Given the description of an element on the screen output the (x, y) to click on. 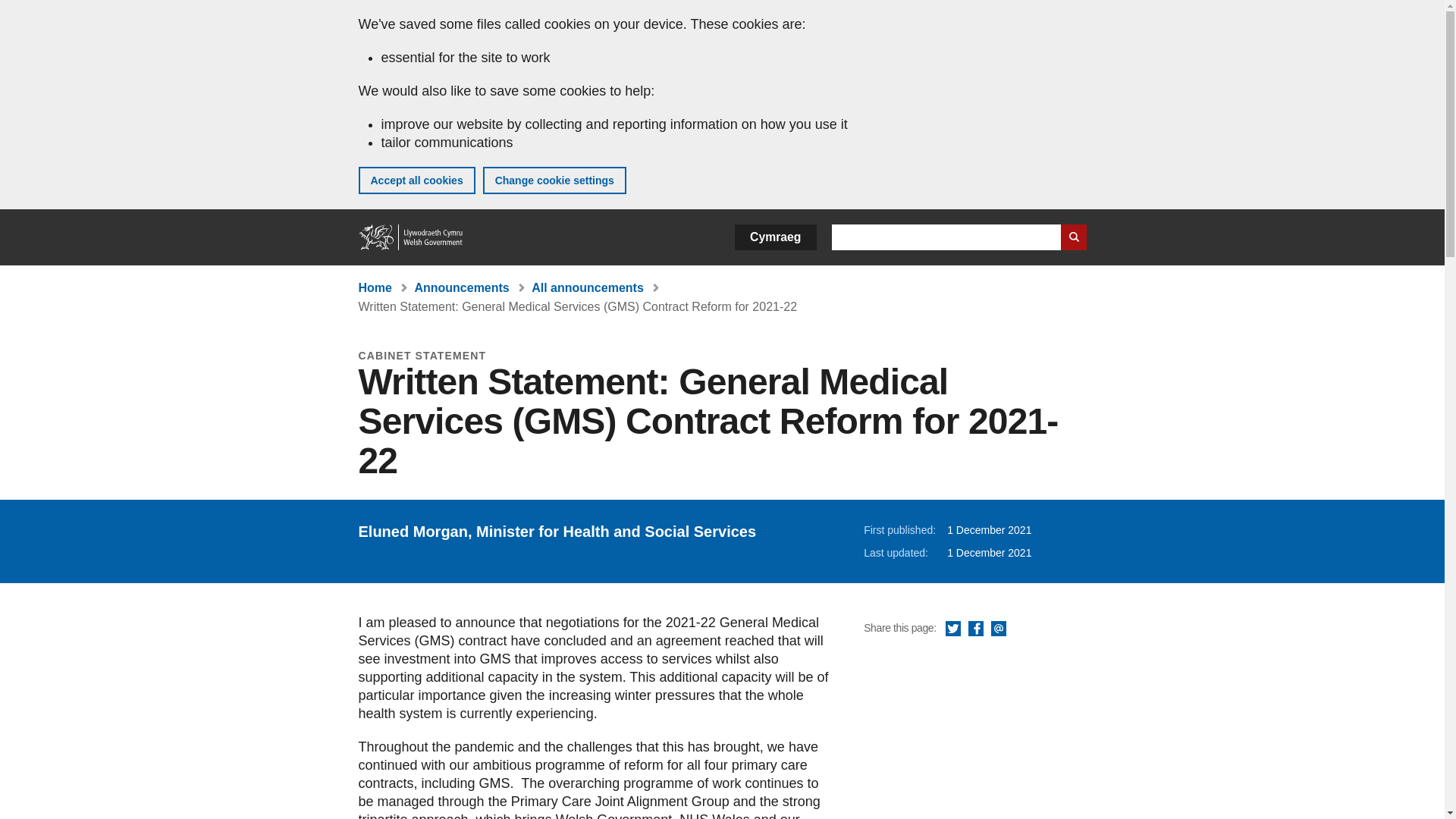
Announcements (460, 287)
Facebook (976, 629)
Email (998, 629)
Home (374, 287)
Skip to main content (22, 11)
Accept all cookies (416, 180)
Cymraeg (775, 237)
Twitter (952, 629)
Home (411, 237)
Change cookie settings (554, 180)
Search website (1072, 237)
Search website (1072, 237)
All announcements (587, 287)
Welsh Government (411, 237)
